Given the description of an element on the screen output the (x, y) to click on. 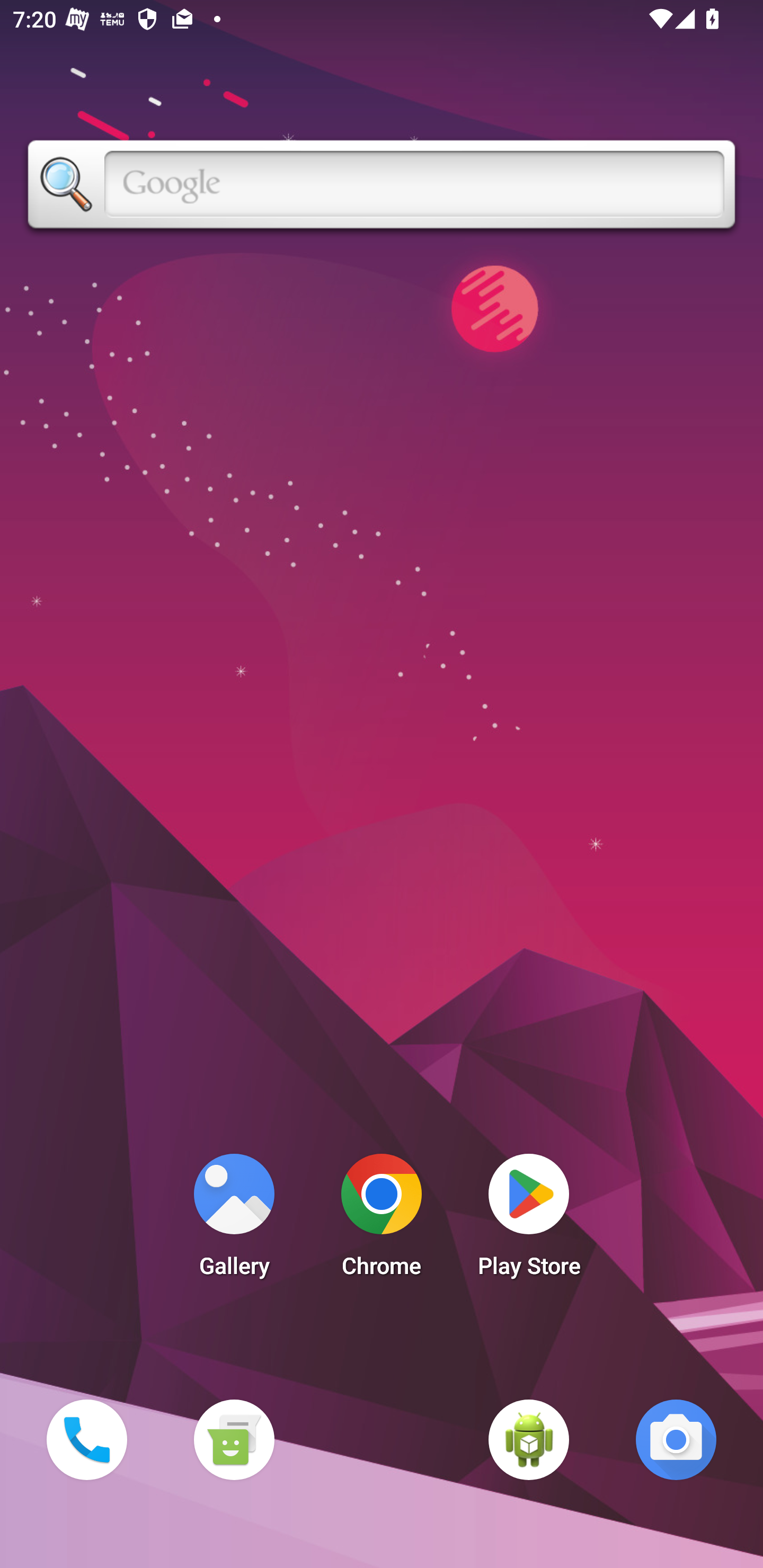
Gallery (233, 1220)
Chrome (381, 1220)
Play Store (528, 1220)
Phone (86, 1439)
Messaging (233, 1439)
WebView Browser Tester (528, 1439)
Camera (676, 1439)
